Given the description of an element on the screen output the (x, y) to click on. 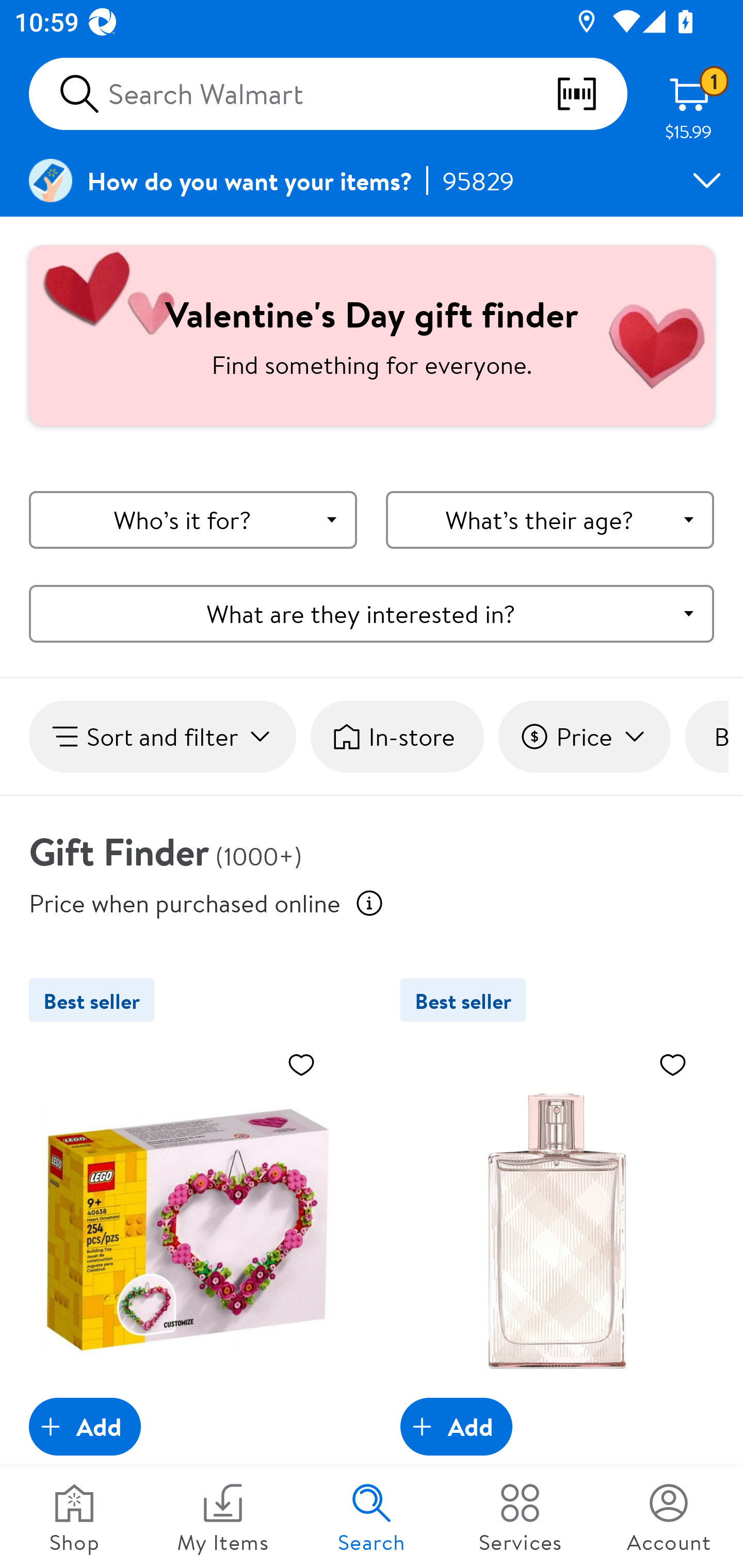
Search Walmart scan barcodes qr codes and more (327, 94)
scan barcodes qr codes and more (591, 94)
Who’s it for? (192, 520)
What’s their age? (549, 520)
What are they interested in? (371, 613)
Price when purchased online (184, 902)
Price when purchased online (369, 903)
Shop (74, 1517)
My Items (222, 1517)
Services (519, 1517)
Account (668, 1517)
